Given the description of an element on the screen output the (x, y) to click on. 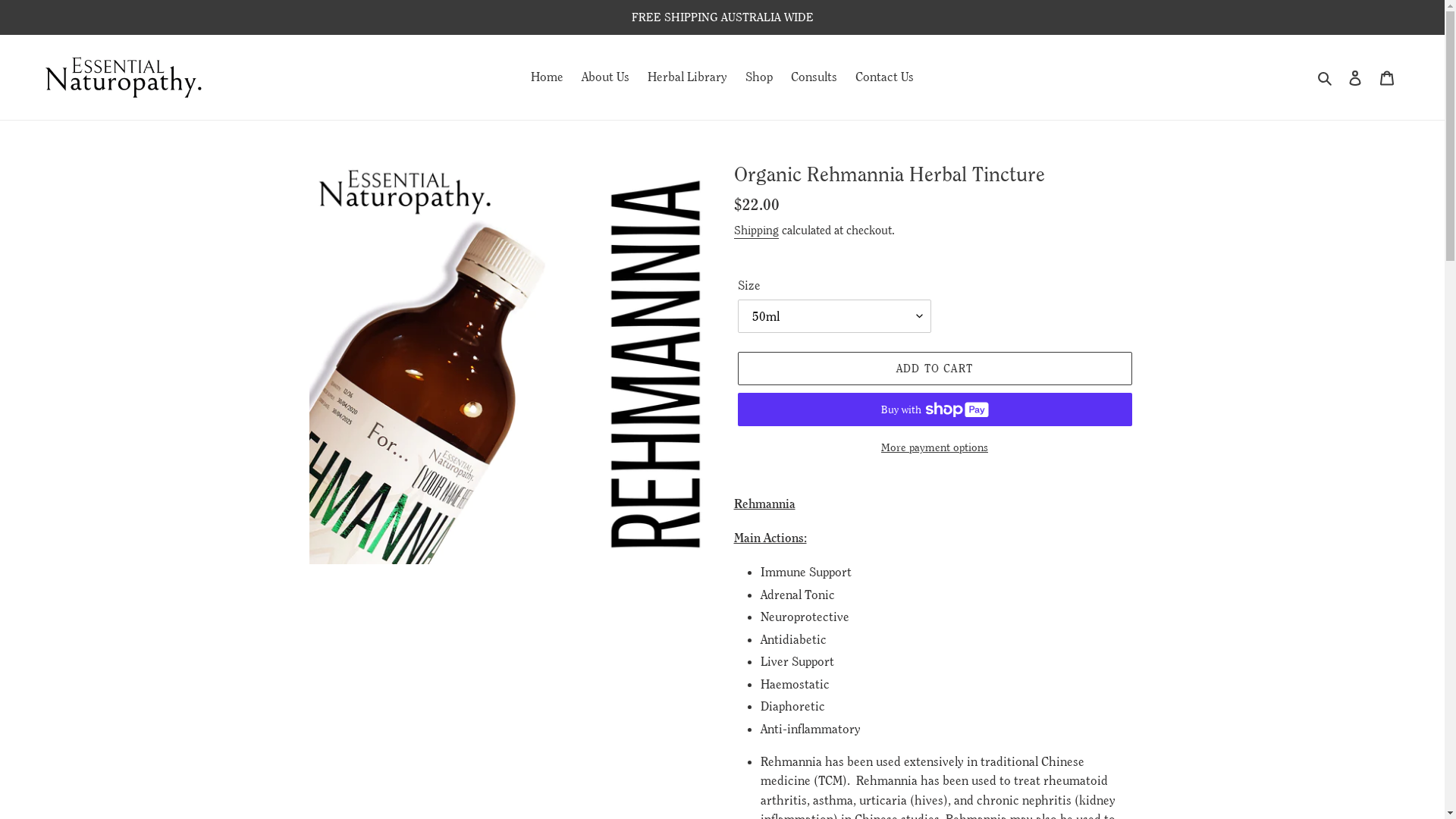
Cart Element type: text (1386, 76)
Contact Us Element type: text (884, 77)
Home Element type: text (547, 77)
Search Element type: text (1325, 76)
Consults Element type: text (813, 77)
Herbal Library Element type: text (687, 77)
ADD TO CART Element type: text (934, 368)
Shop Element type: text (758, 77)
More payment options Element type: text (934, 447)
Log in Element type: text (1355, 76)
About Us Element type: text (605, 77)
Shipping Element type: text (756, 230)
